Given the description of an element on the screen output the (x, y) to click on. 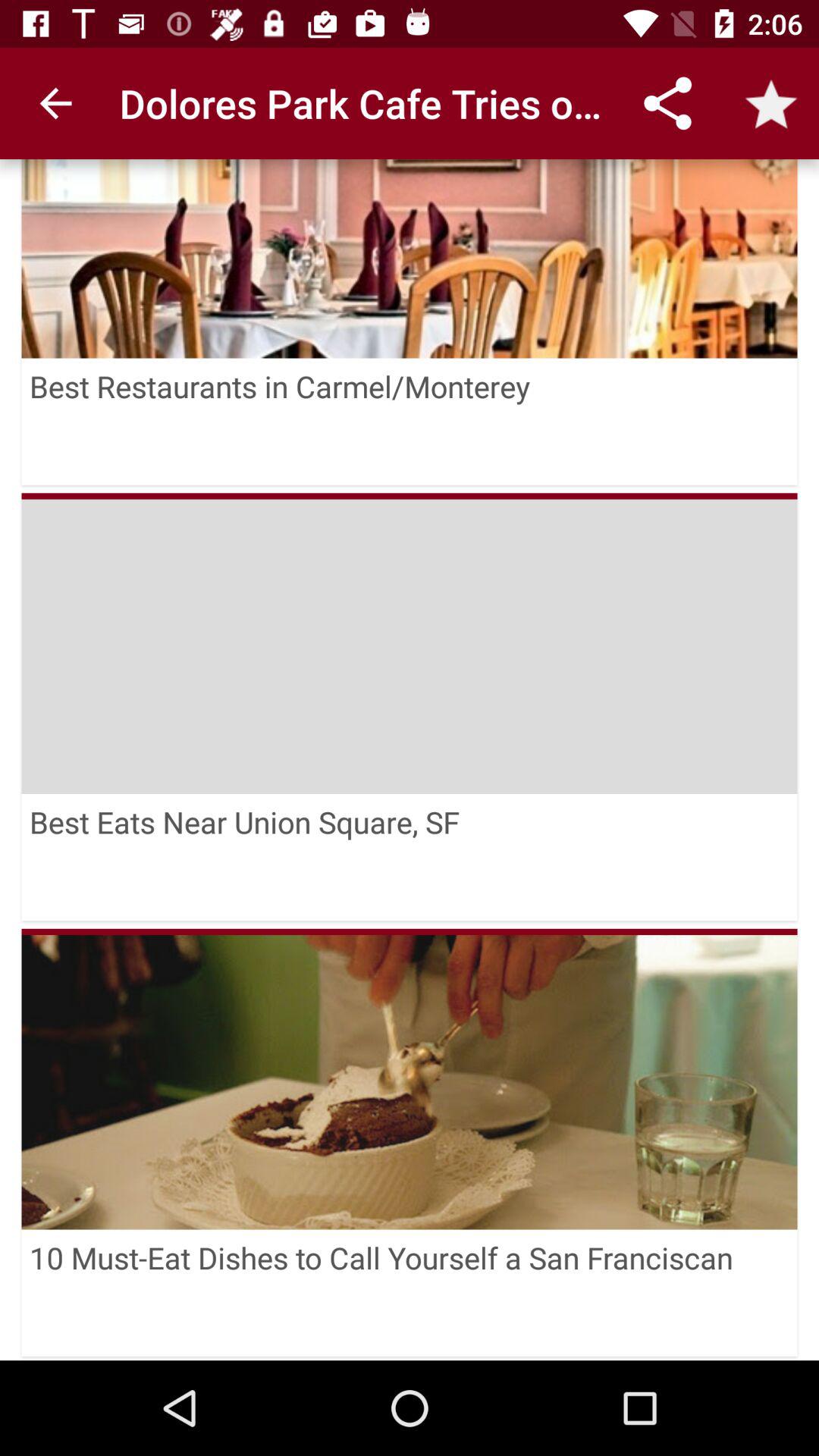
turn off app to the left of dolores park cafe app (55, 103)
